Given the description of an element on the screen output the (x, y) to click on. 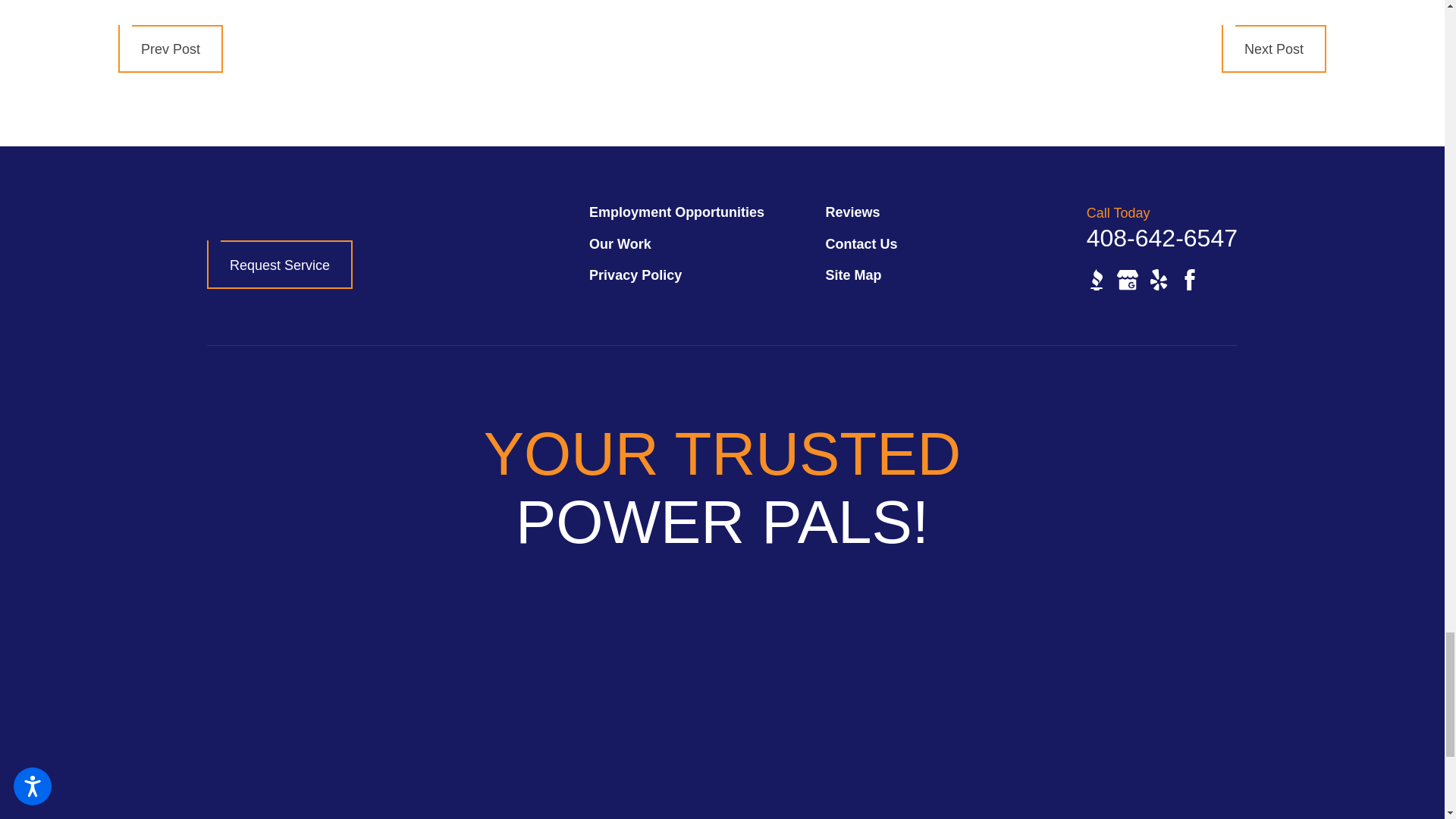
BBB.org (1096, 279)
Yelp (1158, 279)
Facebook (1189, 279)
Google Business Profile (1127, 279)
